Given the description of an element on the screen output the (x, y) to click on. 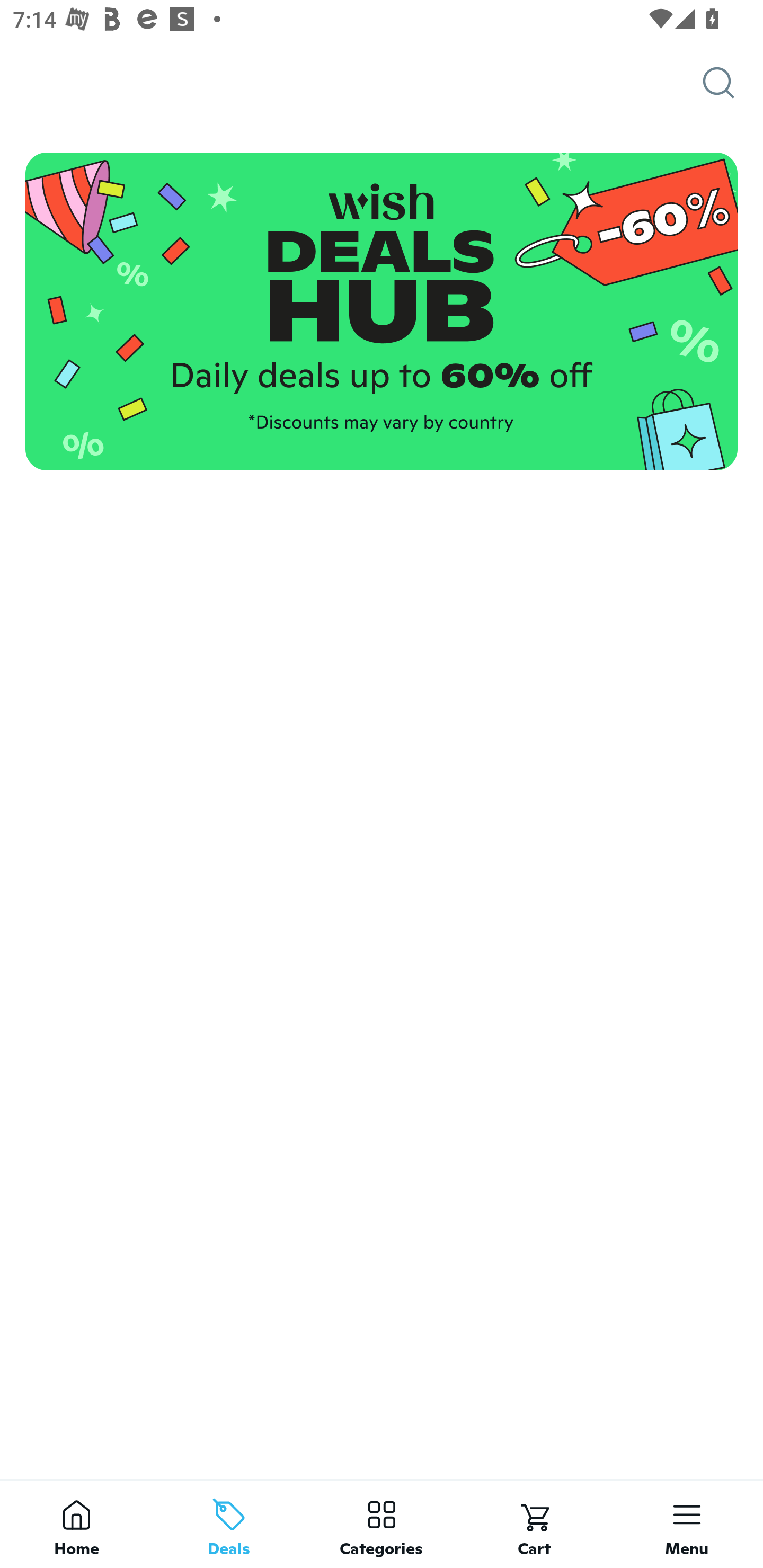
Search (732, 82)
Home (76, 1523)
Deals (228, 1523)
Categories (381, 1523)
Cart (533, 1523)
Menu (686, 1523)
